Given the description of an element on the screen output the (x, y) to click on. 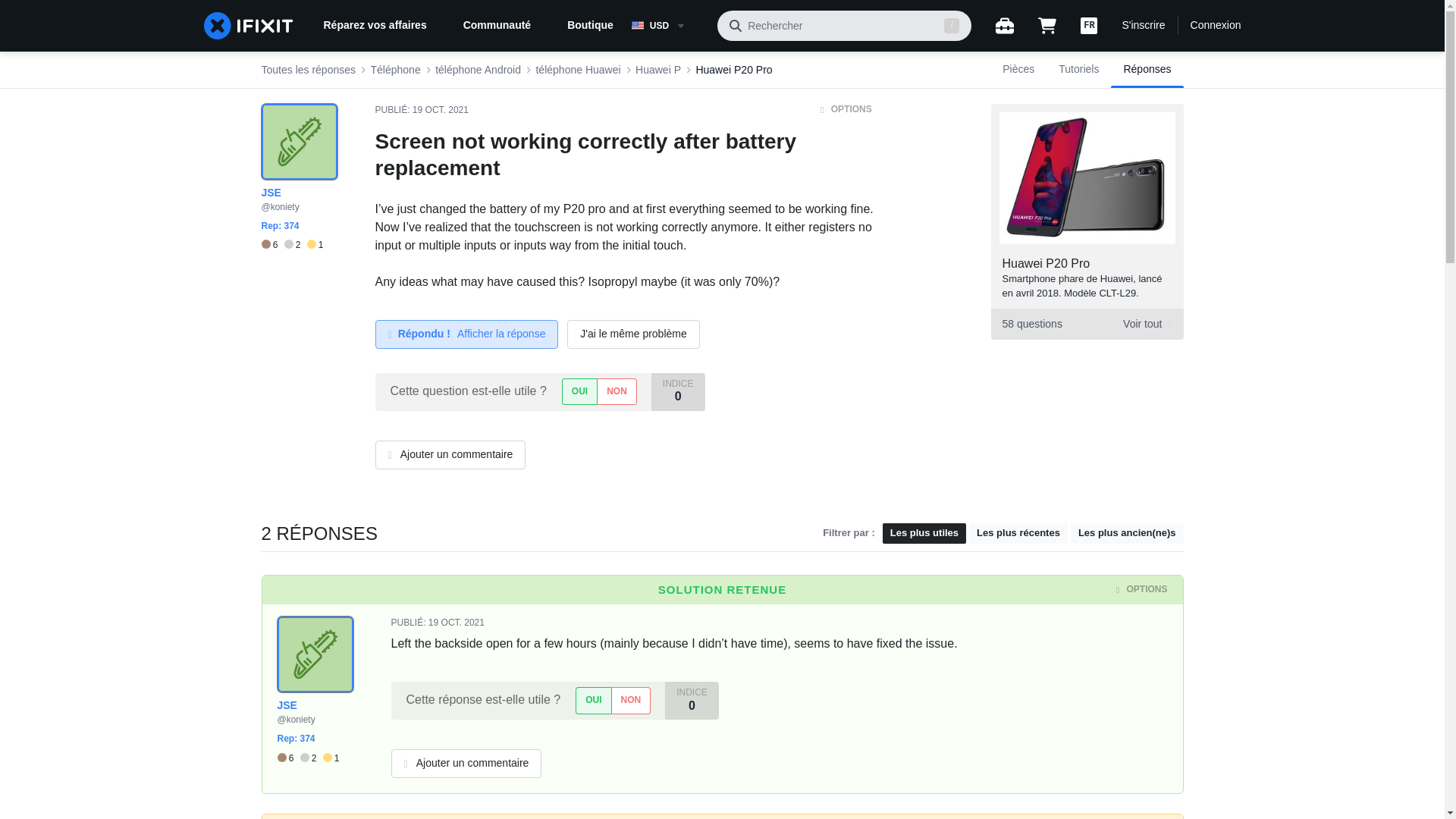
1 badges Or (315, 245)
Tue, 19 Oct 2021 07:29:13 -0700 (440, 109)
Huawei P20 Pro (733, 69)
6 badges Bronze (271, 245)
Huawei P (657, 69)
Huawei P20 Pro (1046, 263)
USD (667, 25)
Tue, 19 Oct 2021 14:13:01 -0700 (1086, 323)
Connexion (456, 622)
